Given the description of an element on the screen output the (x, y) to click on. 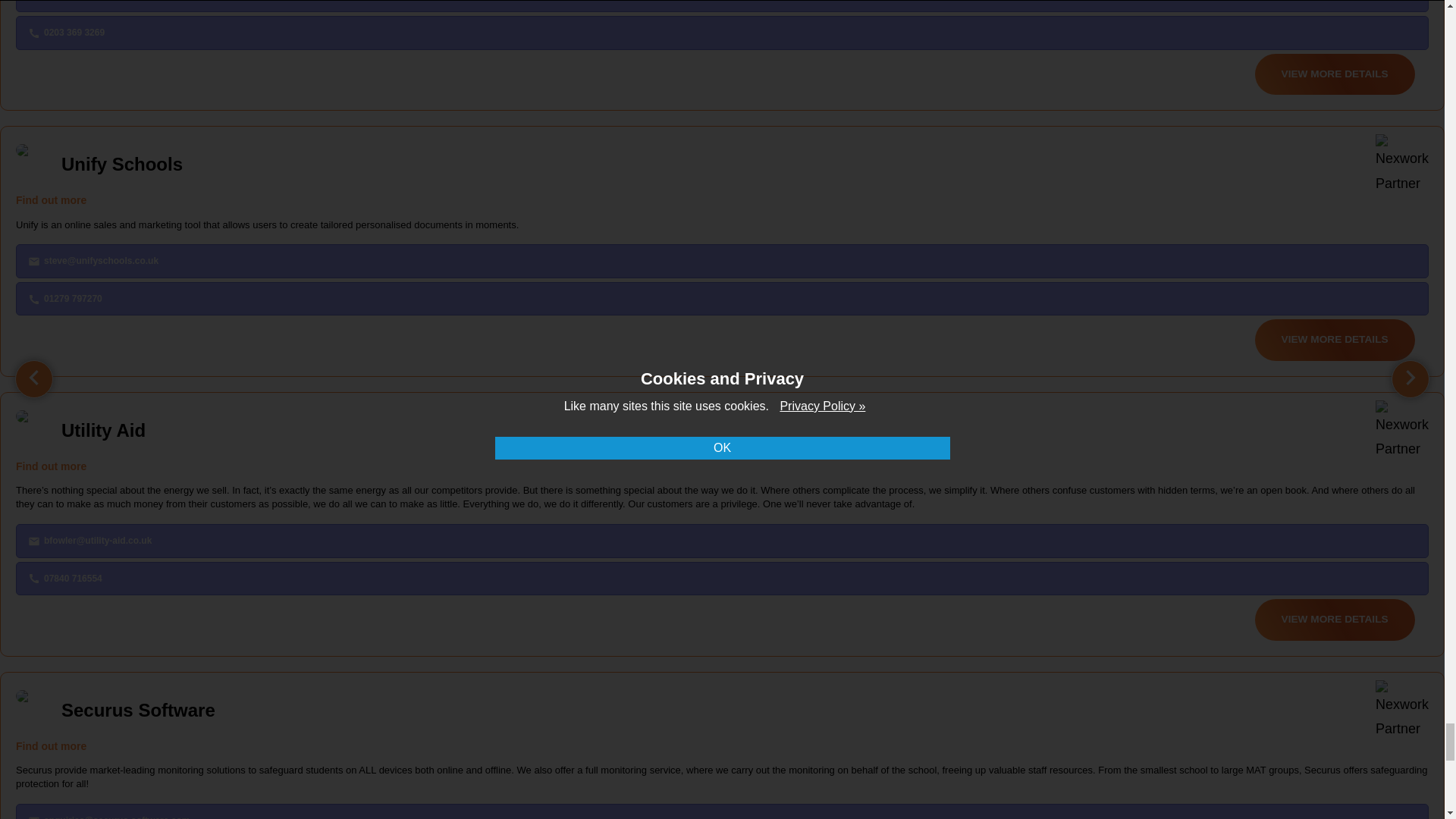
email (33, 816)
email (33, 261)
call (33, 299)
call (33, 578)
call (33, 33)
email (33, 541)
